Given the description of an element on the screen output the (x, y) to click on. 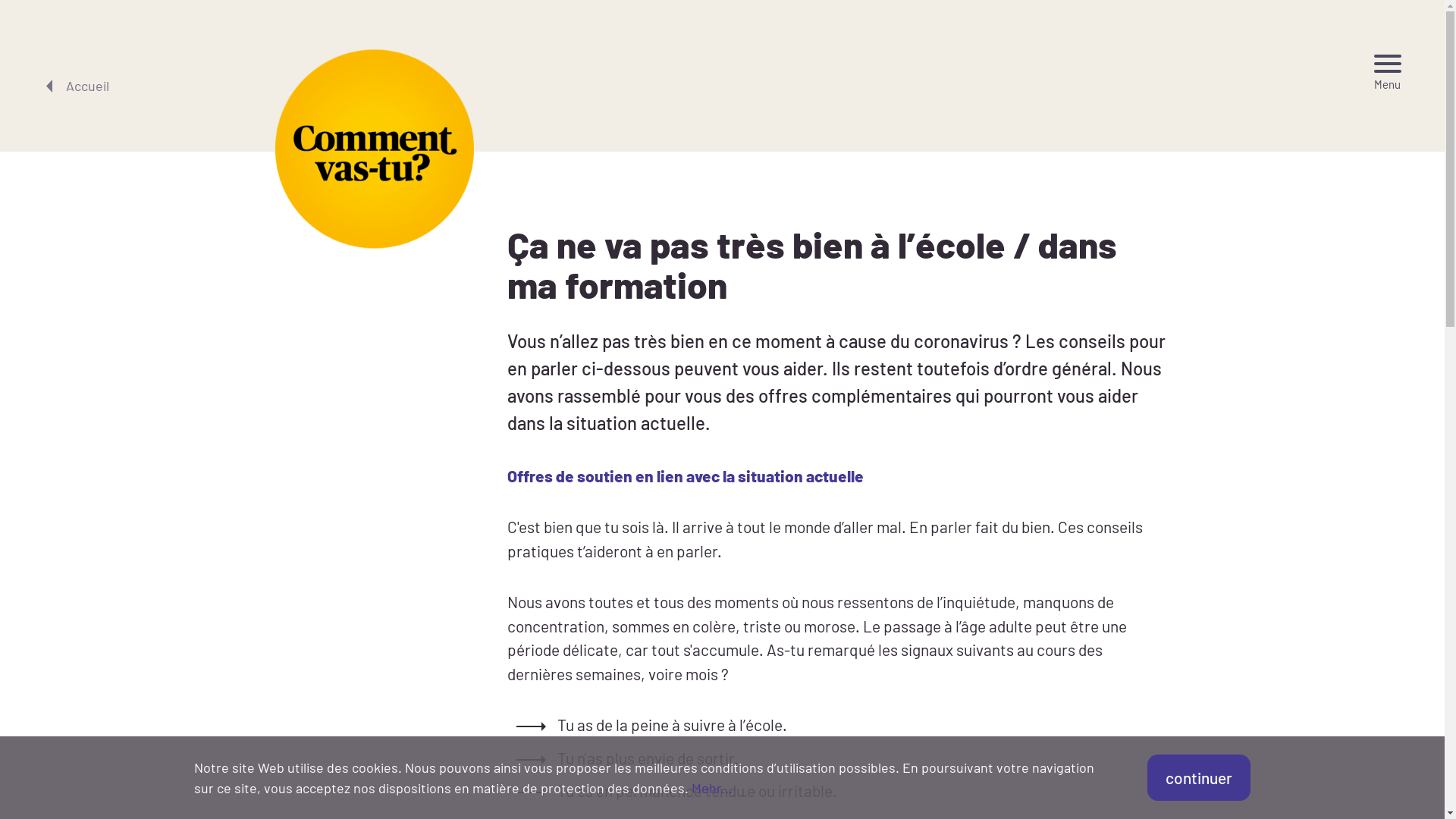
Menu Element type: text (1387, 72)
Accueil Element type: text (76, 85)
Offres de soutien en lien avec la situation actuelle Element type: text (685, 475)
Mehr... Element type: text (710, 787)
continuer Element type: text (1198, 777)
